Given the description of an element on the screen output the (x, y) to click on. 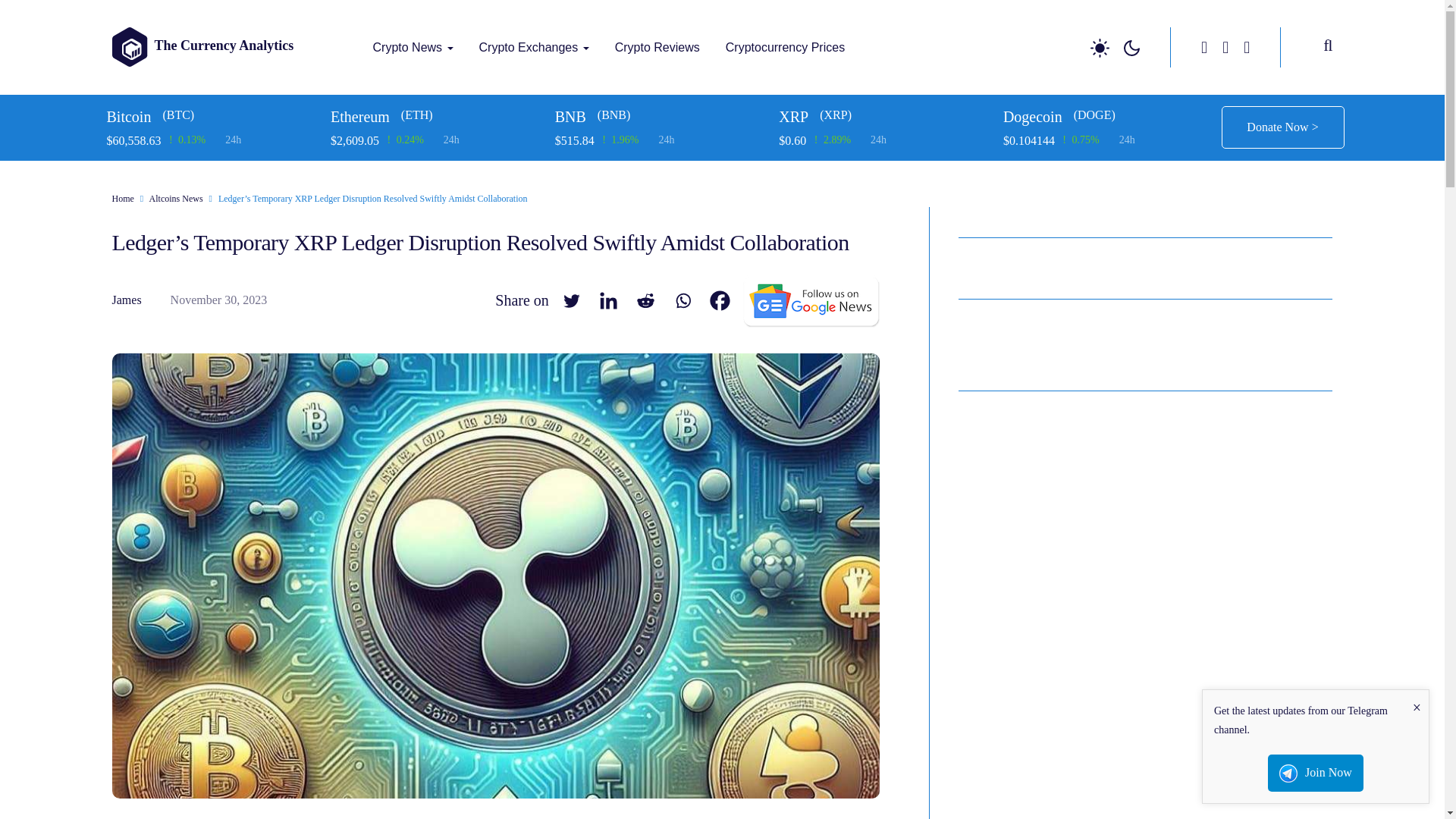
Crypto Reviews (657, 47)
Crypto News (412, 47)
Cryptocurrency Prices (785, 47)
Crypto Exchanges (533, 47)
Bitcoin (212, 116)
Crypto Exchanges (533, 47)
The Currency analytics (379, 77)
Crypto News (412, 47)
Ethereum (436, 116)
